Given the description of an element on the screen output the (x, y) to click on. 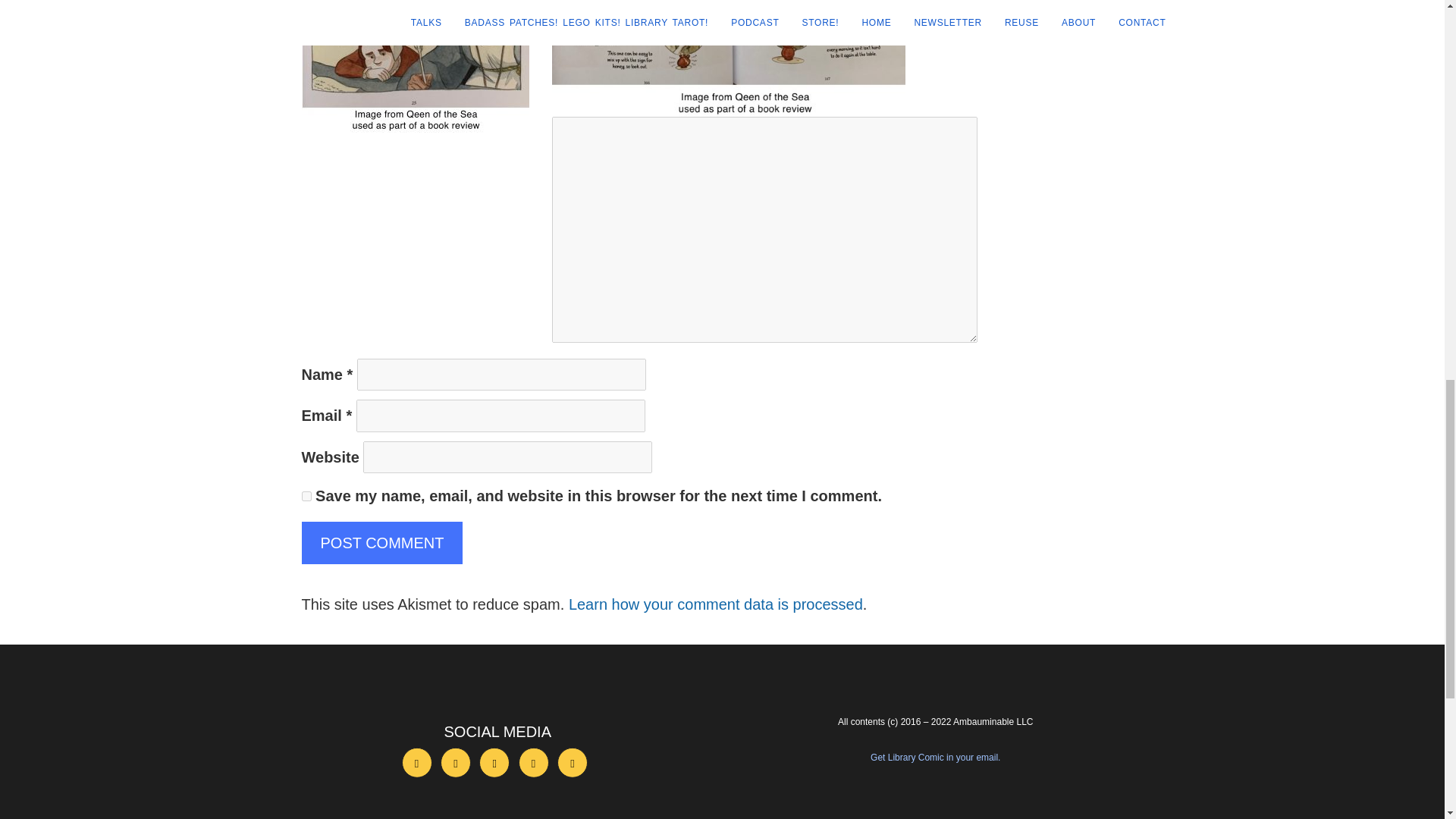
yes (306, 496)
instagram icon (494, 762)
Post Comment (382, 542)
rss icon (572, 762)
facebook icon (416, 762)
twitter icon (455, 762)
tumblr icon (533, 762)
Learn how your comment data is processed (716, 604)
Get Library Comic in your email. (935, 756)
Post Comment (382, 542)
